Given the description of an element on the screen output the (x, y) to click on. 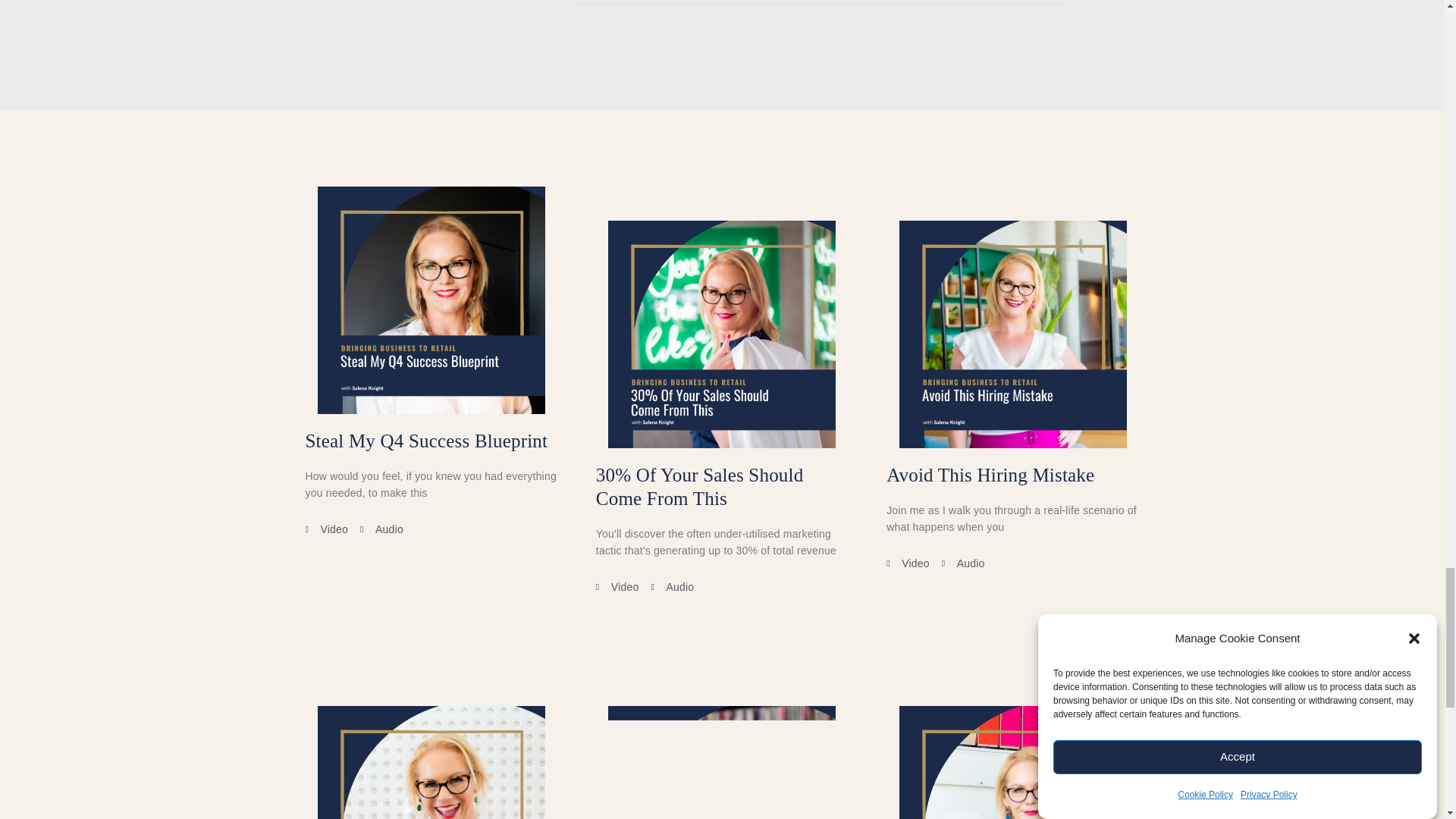
Steal My Q4 Success Blueprint (425, 440)
Audio (963, 563)
Video (617, 586)
Audio (381, 529)
Avoid This Hiring Mistake (990, 475)
Video (325, 529)
Video (908, 563)
Audio (672, 586)
